Given the description of an element on the screen output the (x, y) to click on. 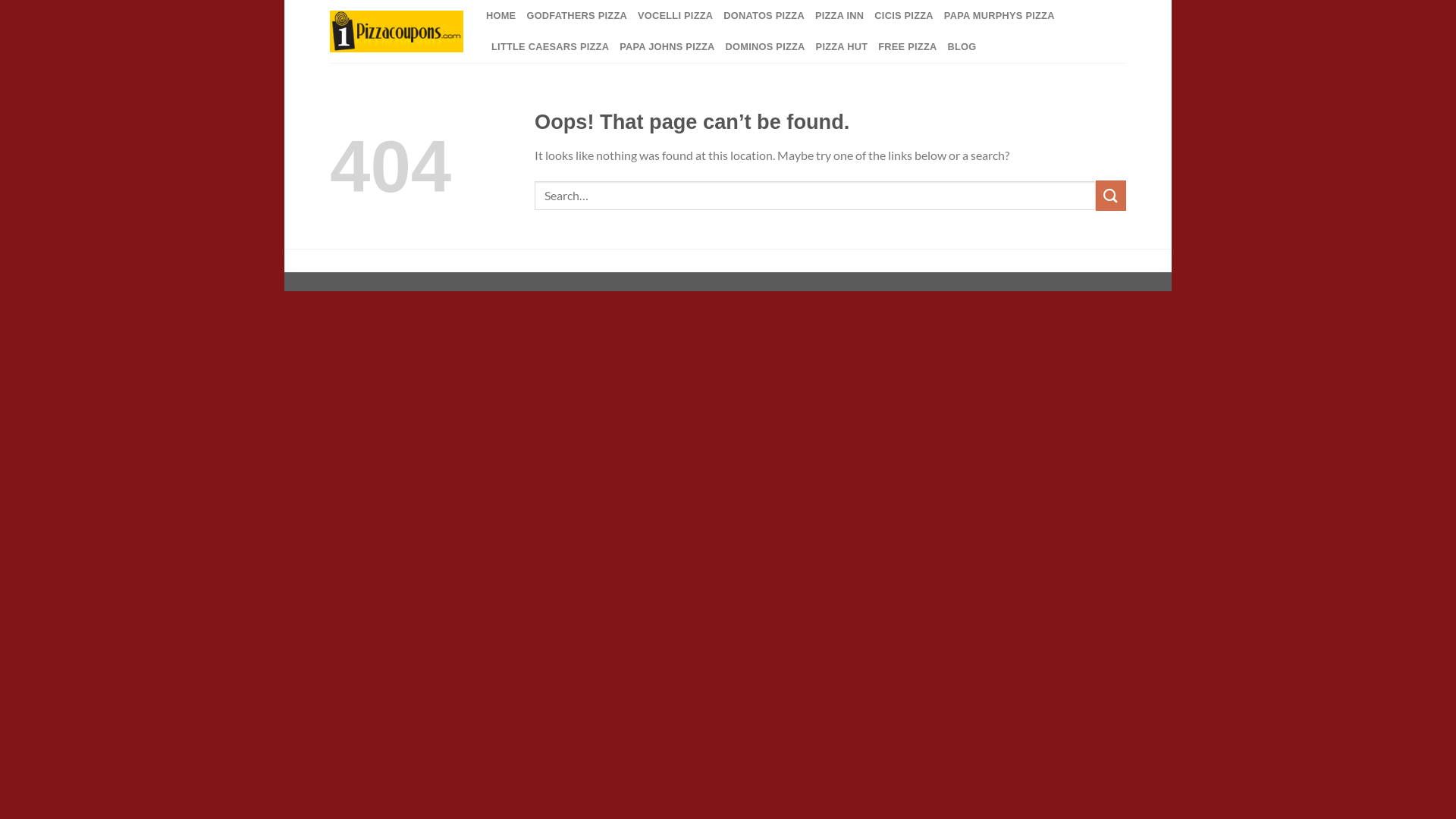
GODFATHERS PIZZA Element type: text (576, 15)
PAPA JOHNS PIZZA Element type: text (666, 46)
DONATOS PIZZA Element type: text (763, 15)
PIZZA INN Element type: text (839, 15)
HOME Element type: text (500, 15)
FREE PIZZA Element type: text (907, 46)
CICIS PIZZA Element type: text (903, 15)
BLOG Element type: text (961, 46)
DOMINOS PIZZA Element type: text (765, 46)
VOCELLI PIZZA Element type: text (674, 15)
PAPA MURPHYS PIZZA Element type: text (999, 15)
PIZZA HUT Element type: text (841, 46)
LITTLE CAESARS PIZZA Element type: text (549, 46)
